Given the description of an element on the screen output the (x, y) to click on. 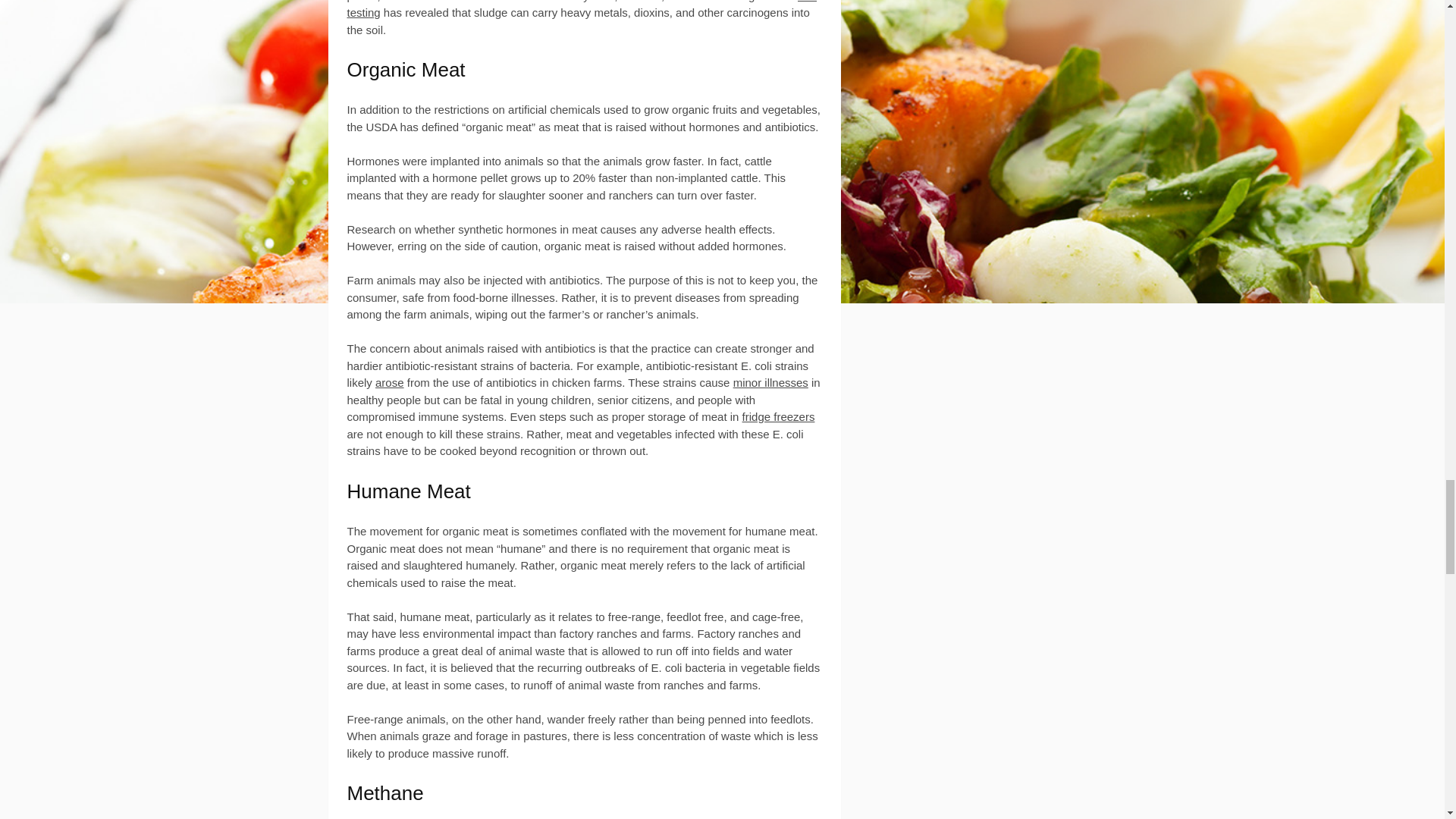
Soil testing (581, 9)
fridge freezers (778, 416)
arose (389, 382)
minor illnesses (770, 382)
